Given the description of an element on the screen output the (x, y) to click on. 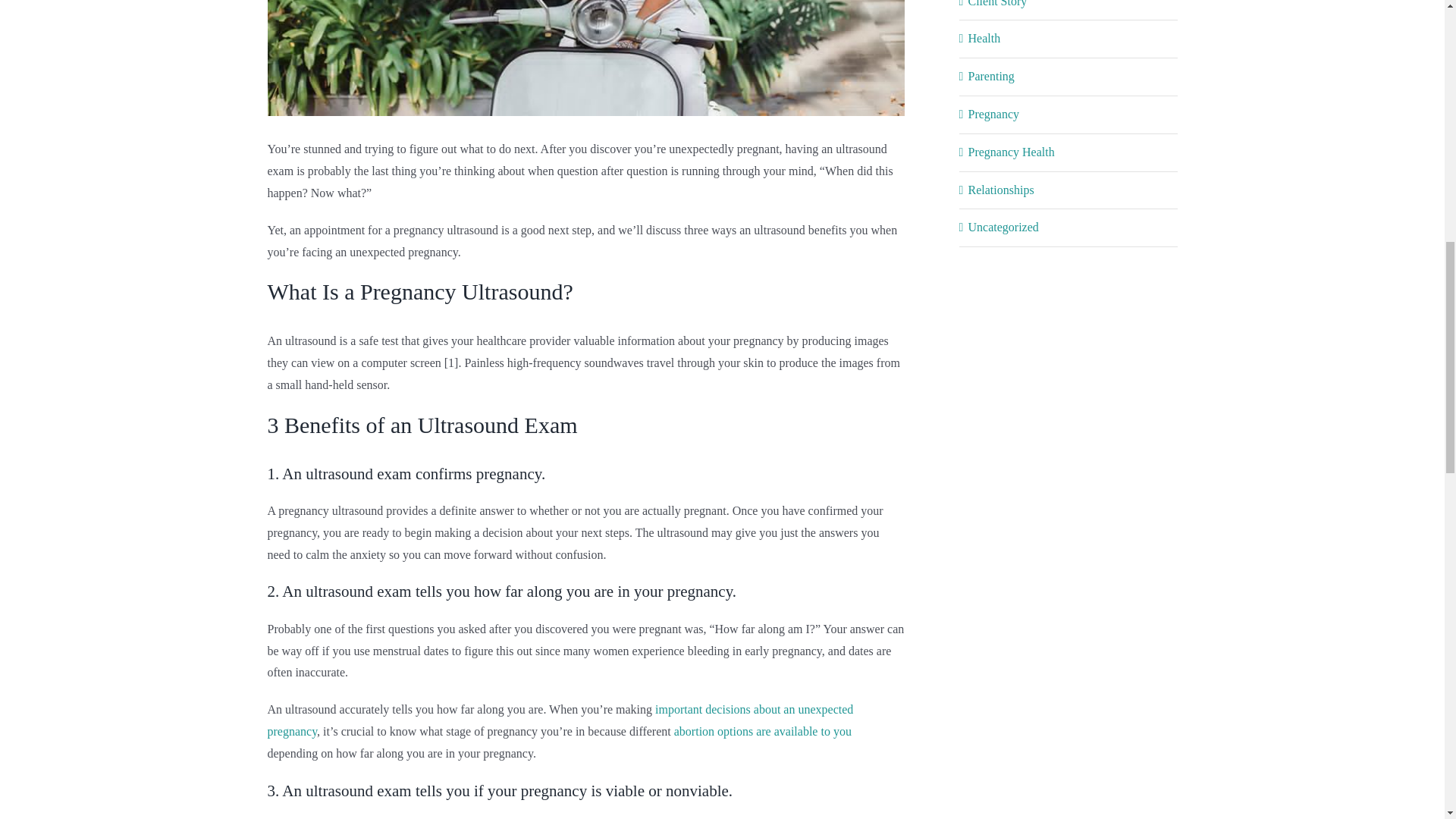
View Larger Image (585, 58)
important decisions about an unexpected pregnancy (559, 719)
abortion options are available to you (762, 730)
